Given the description of an element on the screen output the (x, y) to click on. 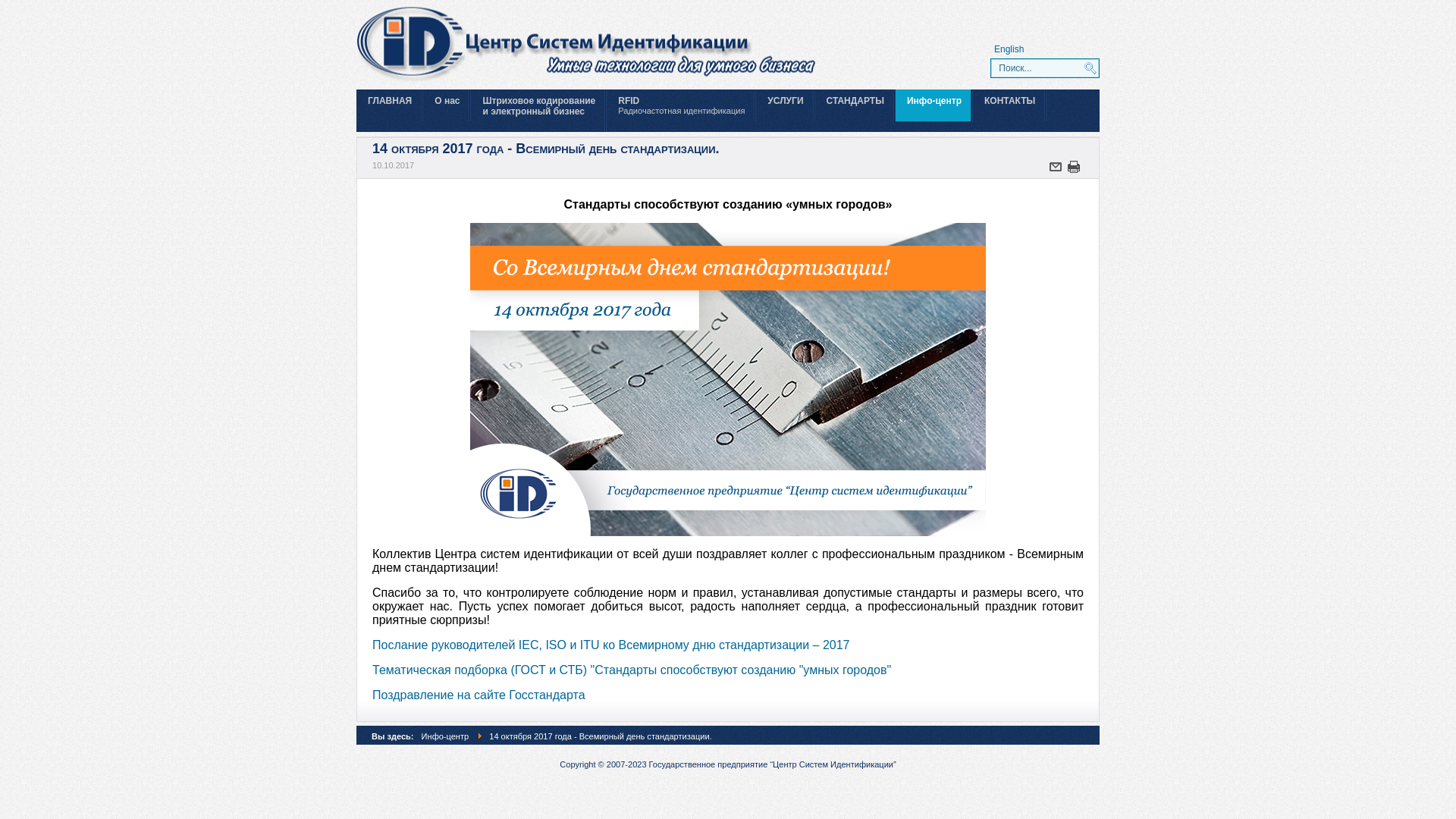
E-mail Element type: hover (1057, 169)
English Element type: text (1008, 48)
